Given the description of an element on the screen output the (x, y) to click on. 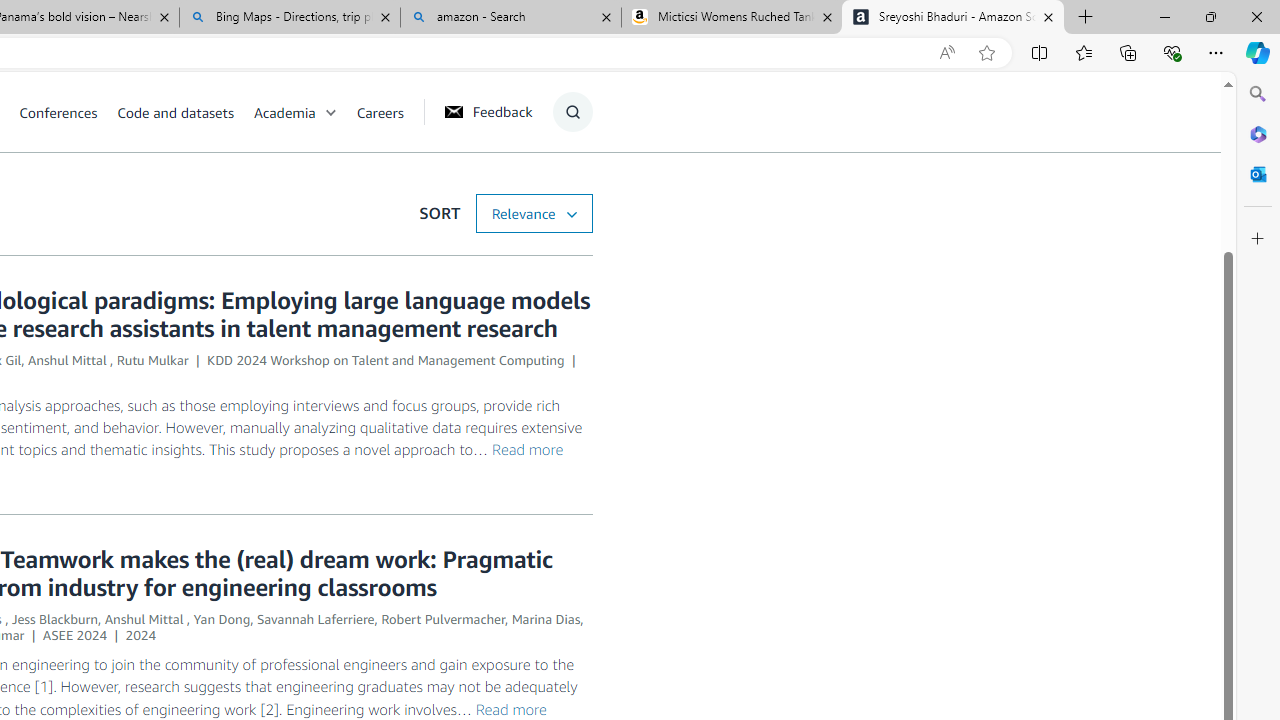
KDD 2024 Workshop on Talent and Management Computing (385, 360)
amazon - Search (510, 17)
SORT (533, 213)
Conferences (68, 111)
Open Sub Navigation (330, 111)
Class: chevron (330, 116)
Careers (389, 111)
Academia (284, 111)
